Given the description of an element on the screen output the (x, y) to click on. 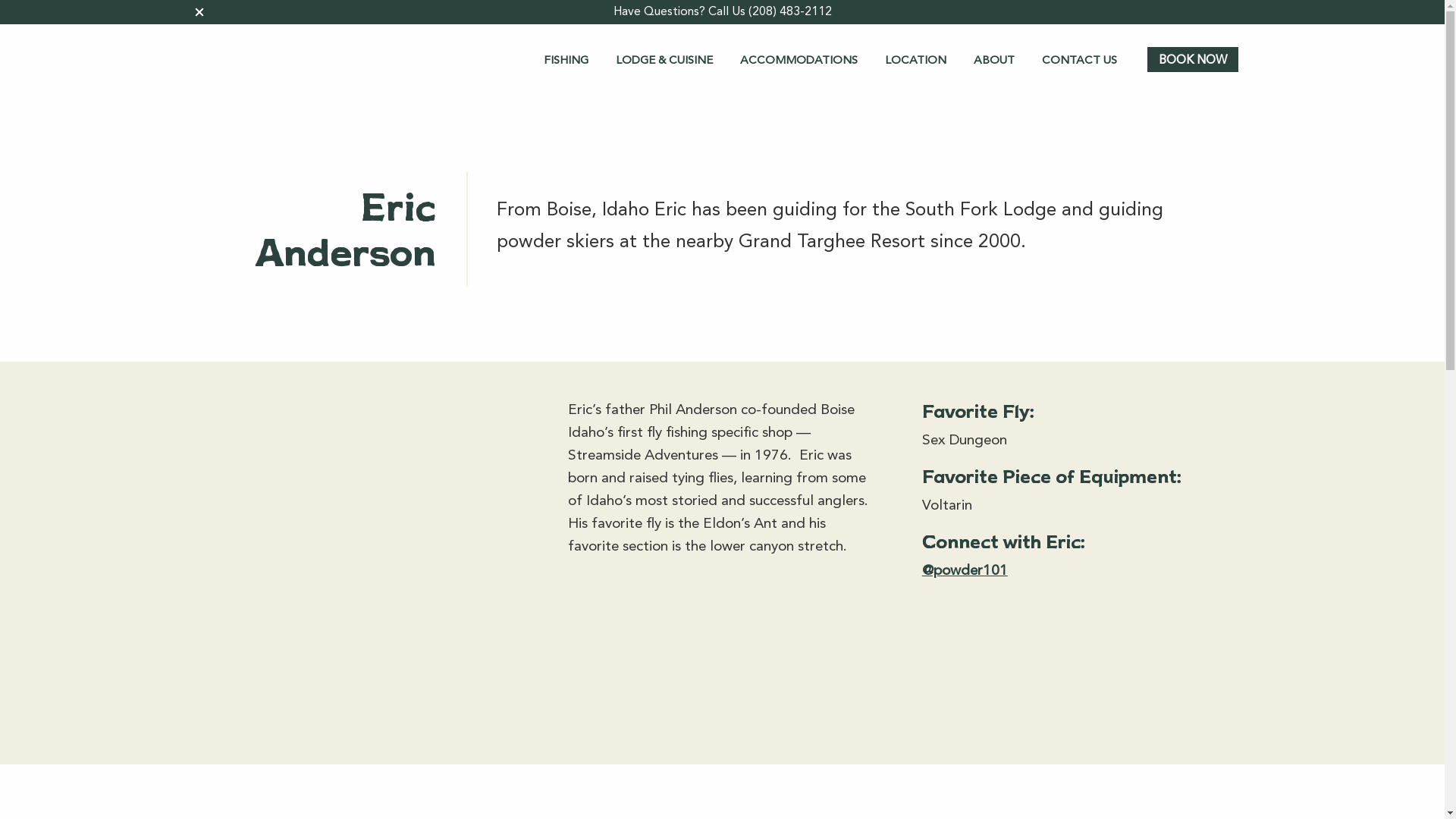
FISHING (565, 59)
ACCOMMODATIONS (798, 59)
LOCATION (913, 59)
CONTACT US (1079, 59)
ABOUT (994, 59)
close (198, 11)
